Given the description of an element on the screen output the (x, y) to click on. 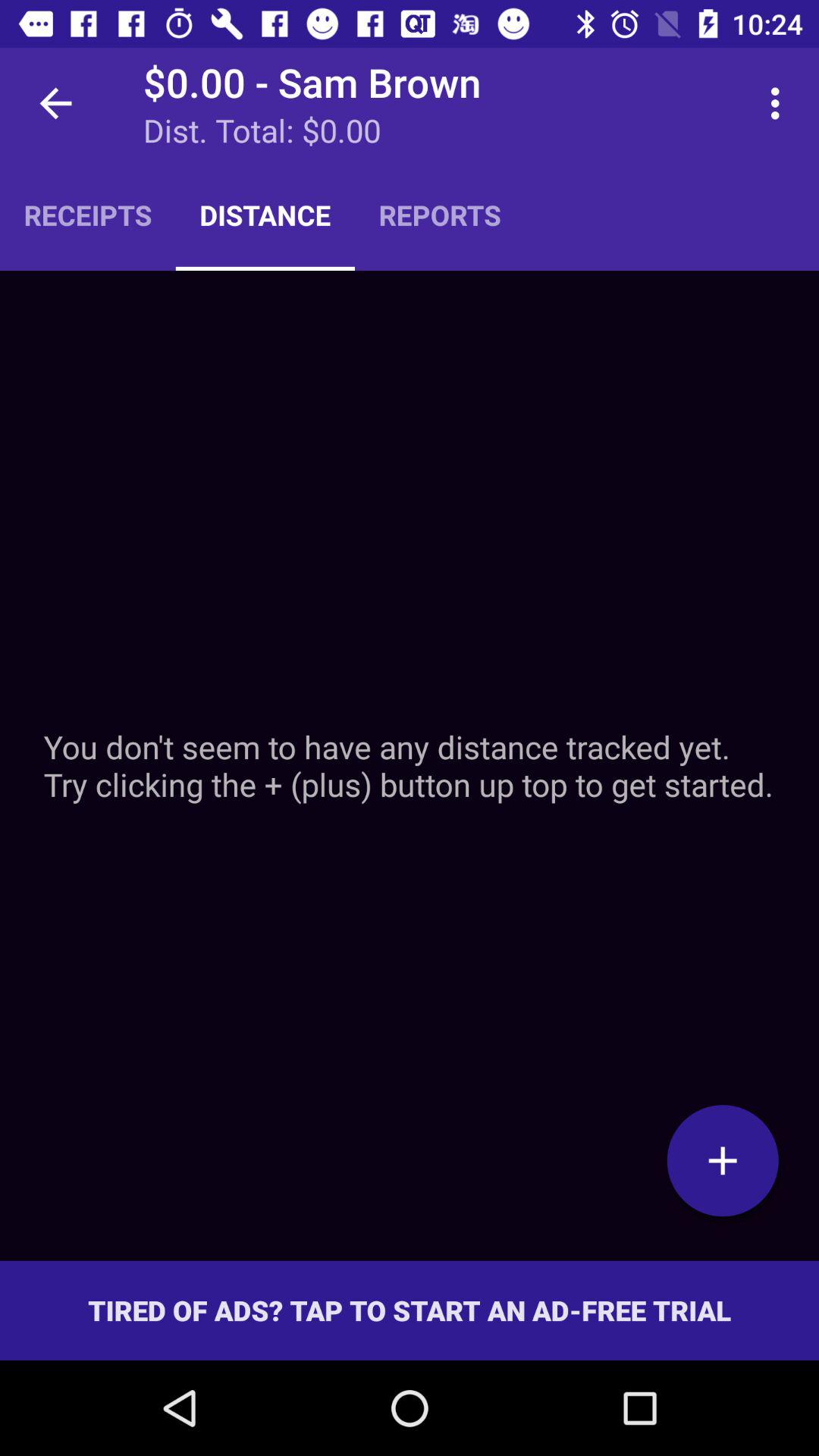
add distance (722, 1160)
